Given the description of an element on the screen output the (x, y) to click on. 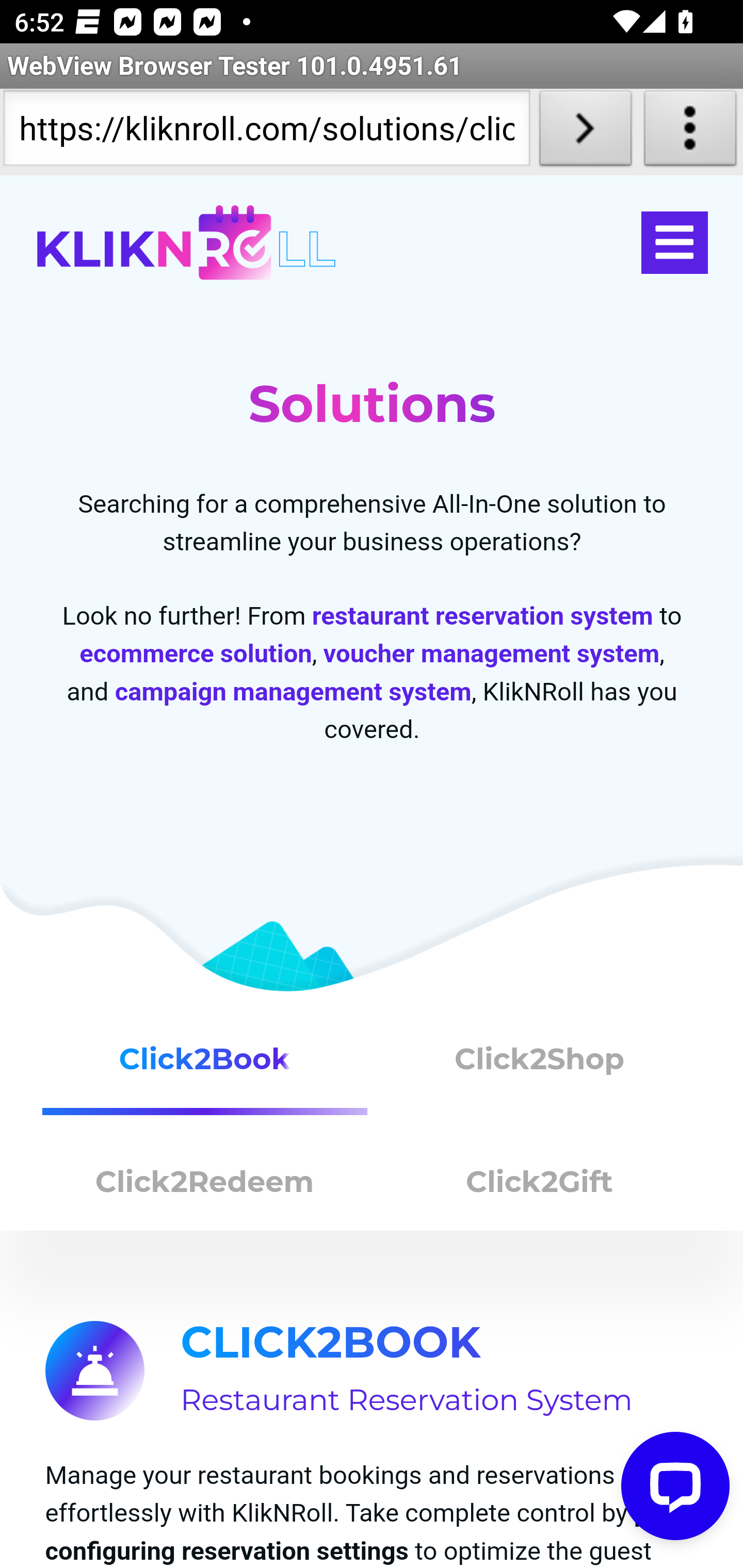
Load URL (585, 132)
About WebView (690, 132)
kliknroll (185, 242)
 (673, 242)
Click2Book (204, 1066)
Click2Shop (540, 1066)
Click2Redeem (204, 1185)
Click2Gift (540, 1185)
Open LiveChat chat widget (676, 1486)
